Given the description of an element on the screen output the (x, y) to click on. 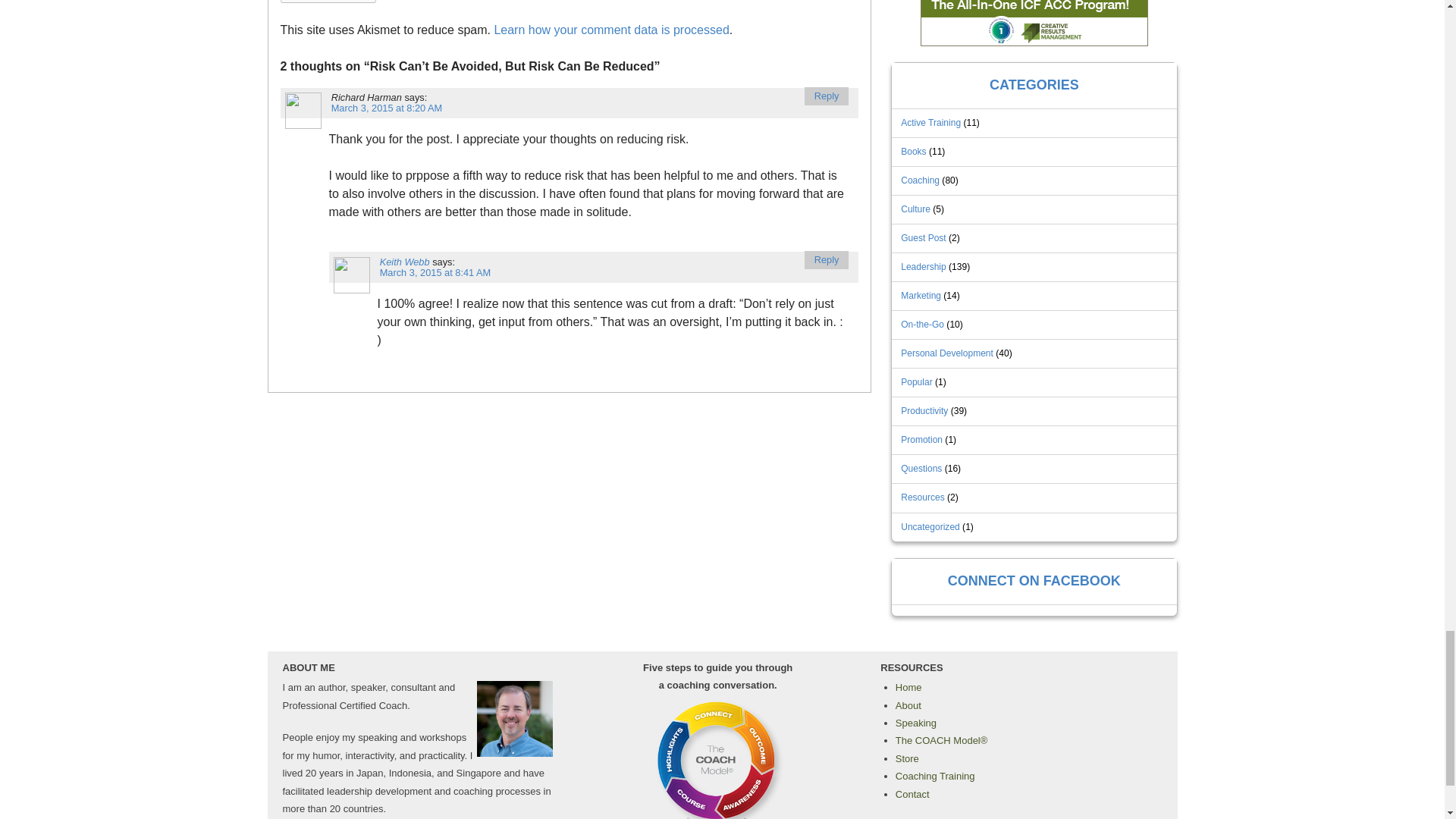
Post Comment (329, 1)
